Given the description of an element on the screen output the (x, y) to click on. 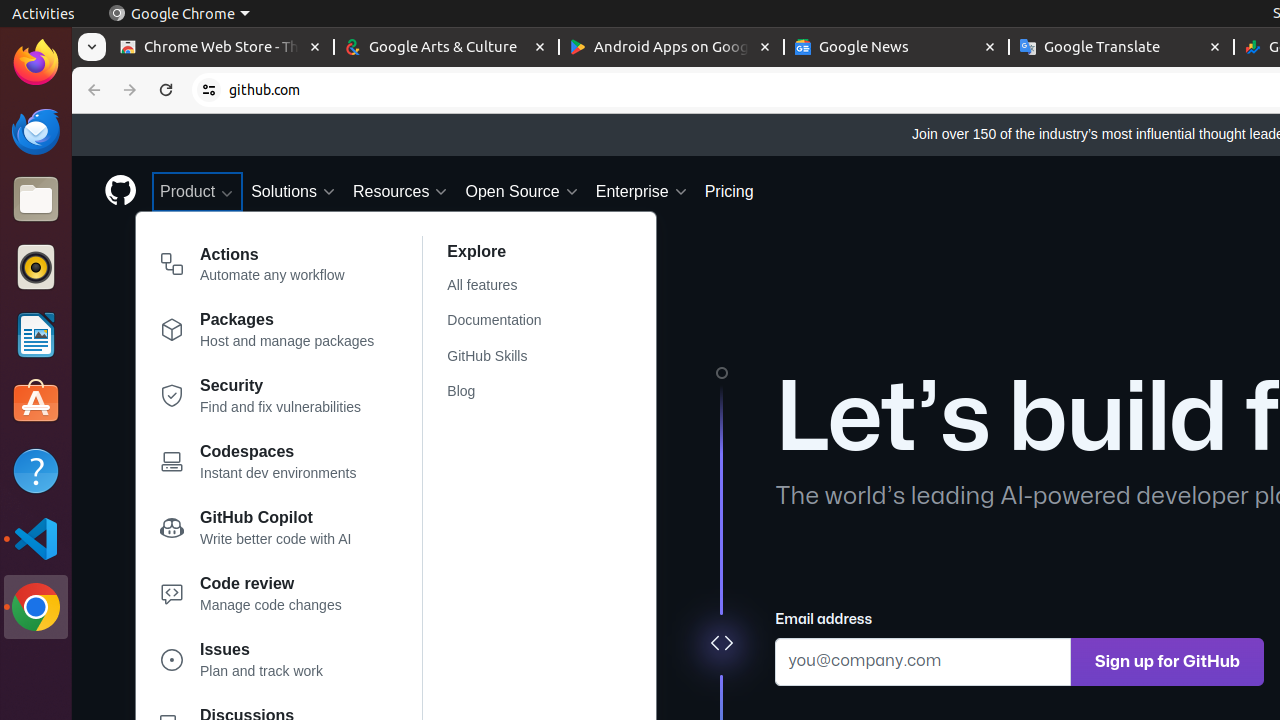
Resources Element type: push-button (401, 191)
Android Apps on Google Play - Memory usage - 52.4 MB Element type: page-tab (671, 47)
Homepage Element type: link (120, 191)
Issues Plan and track work Element type: link (267, 664)
Actions Automate any workflow Element type: link (267, 268)
